Given the description of an element on the screen output the (x, y) to click on. 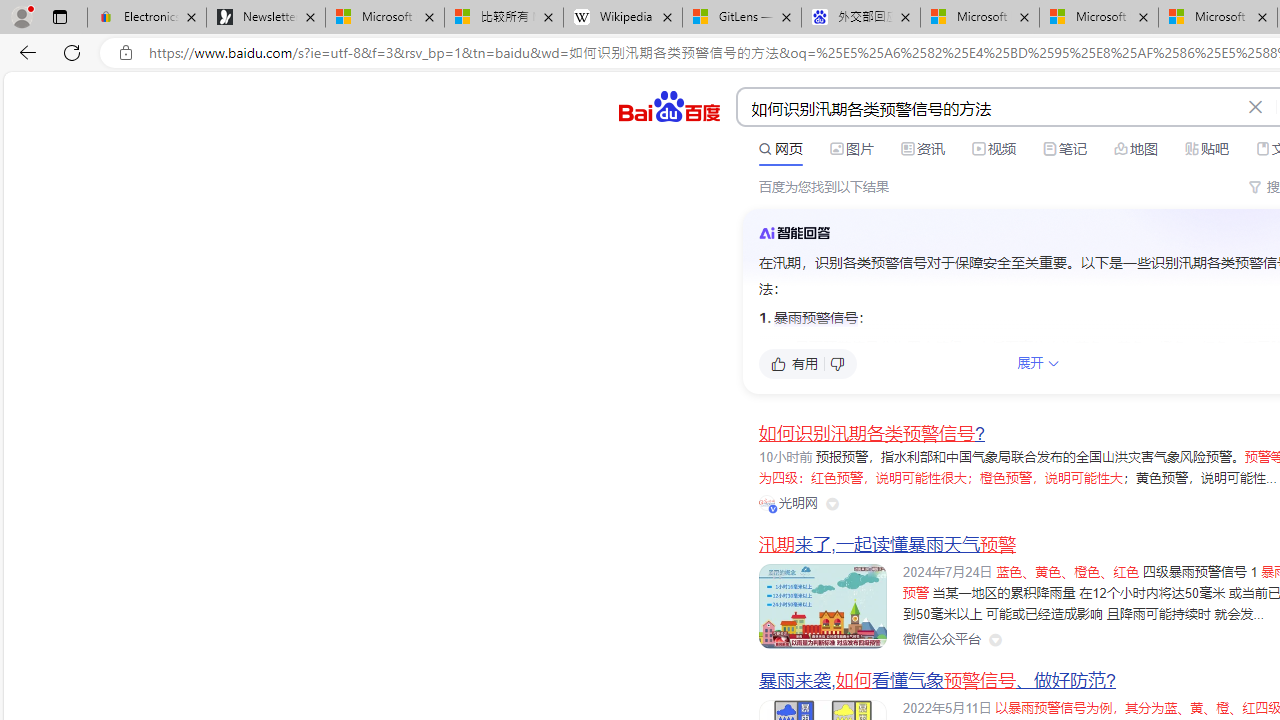
Wikipedia (623, 17)
Class: vip-icon_kNmNt (773, 508)
AutomationID: kw (989, 107)
